Given the description of an element on the screen output the (x, y) to click on. 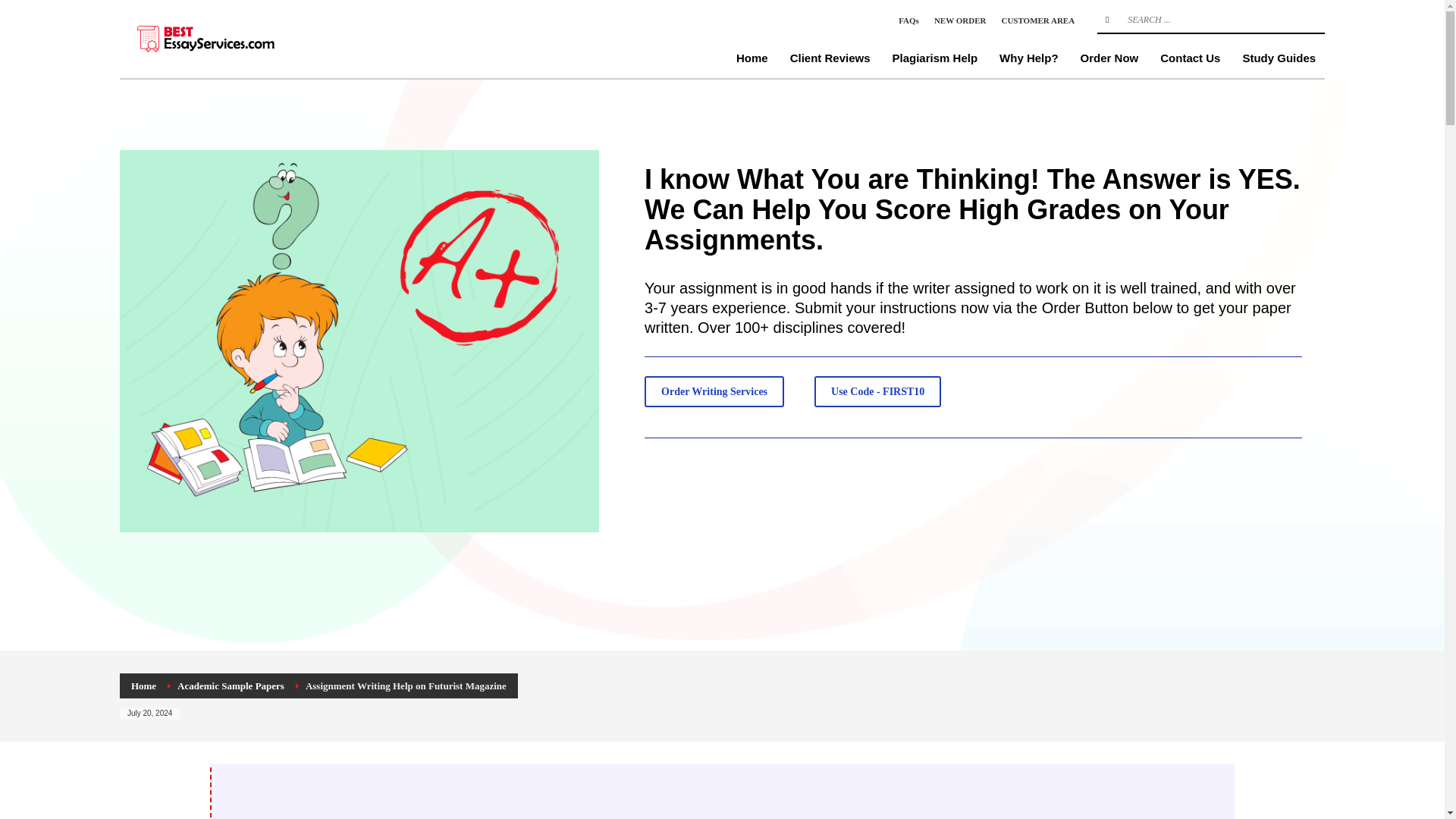
Contact Us (1189, 57)
Use Code - FIRST10 (876, 391)
Academic Sample Papers (230, 685)
FAQs (908, 20)
NEW ORDER (960, 20)
Why Help? (1028, 57)
Client Reviews (829, 57)
Home (751, 57)
Study Guides (1278, 57)
Homework Help (233, 37)
Plagiarism Help (935, 57)
Order Writing Services (714, 391)
Order Now (1109, 57)
go (1107, 19)
